Given the description of an element on the screen output the (x, y) to click on. 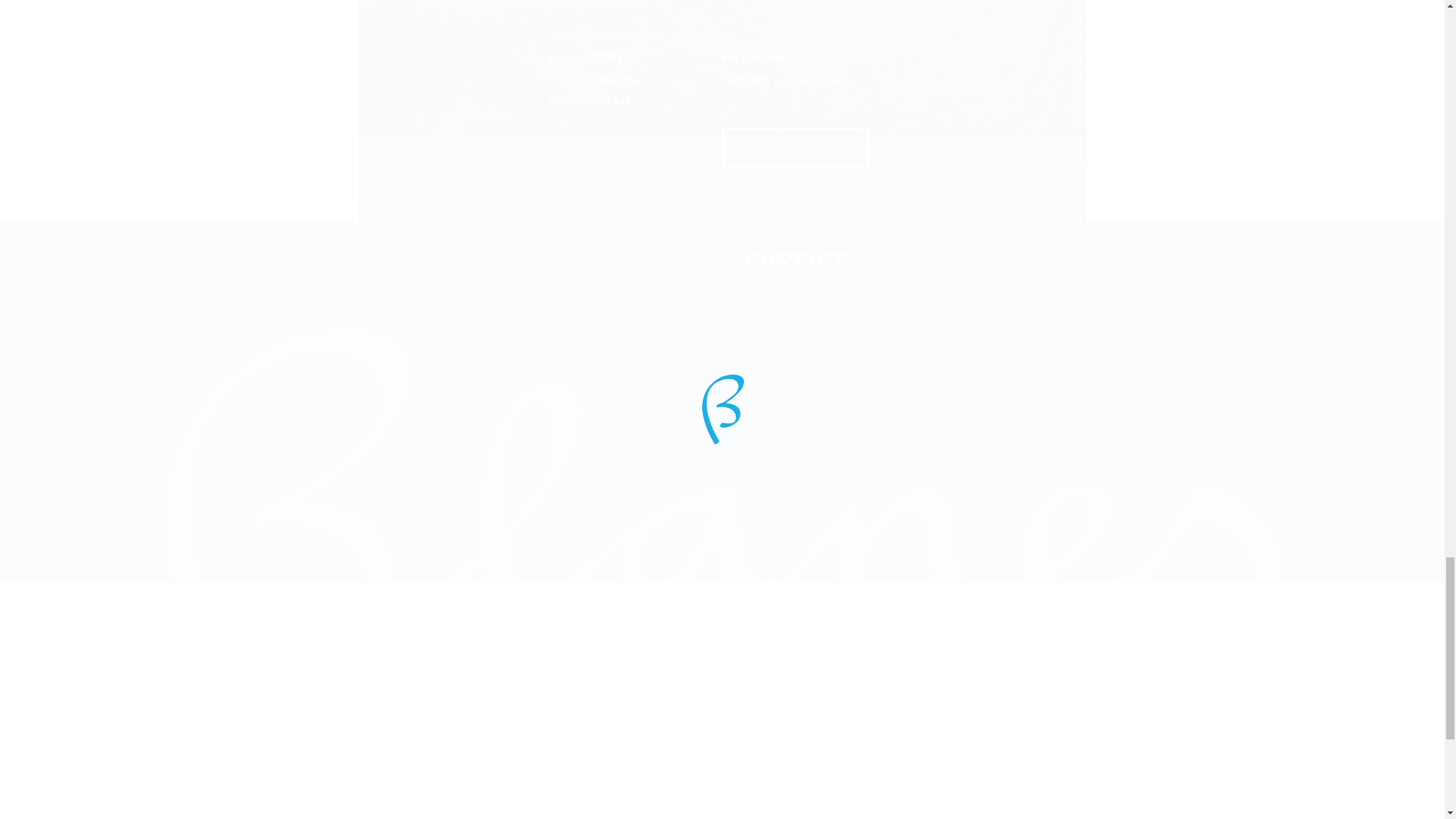
Twitter (692, 388)
Facebook (632, 388)
